Given the description of an element on the screen output the (x, y) to click on. 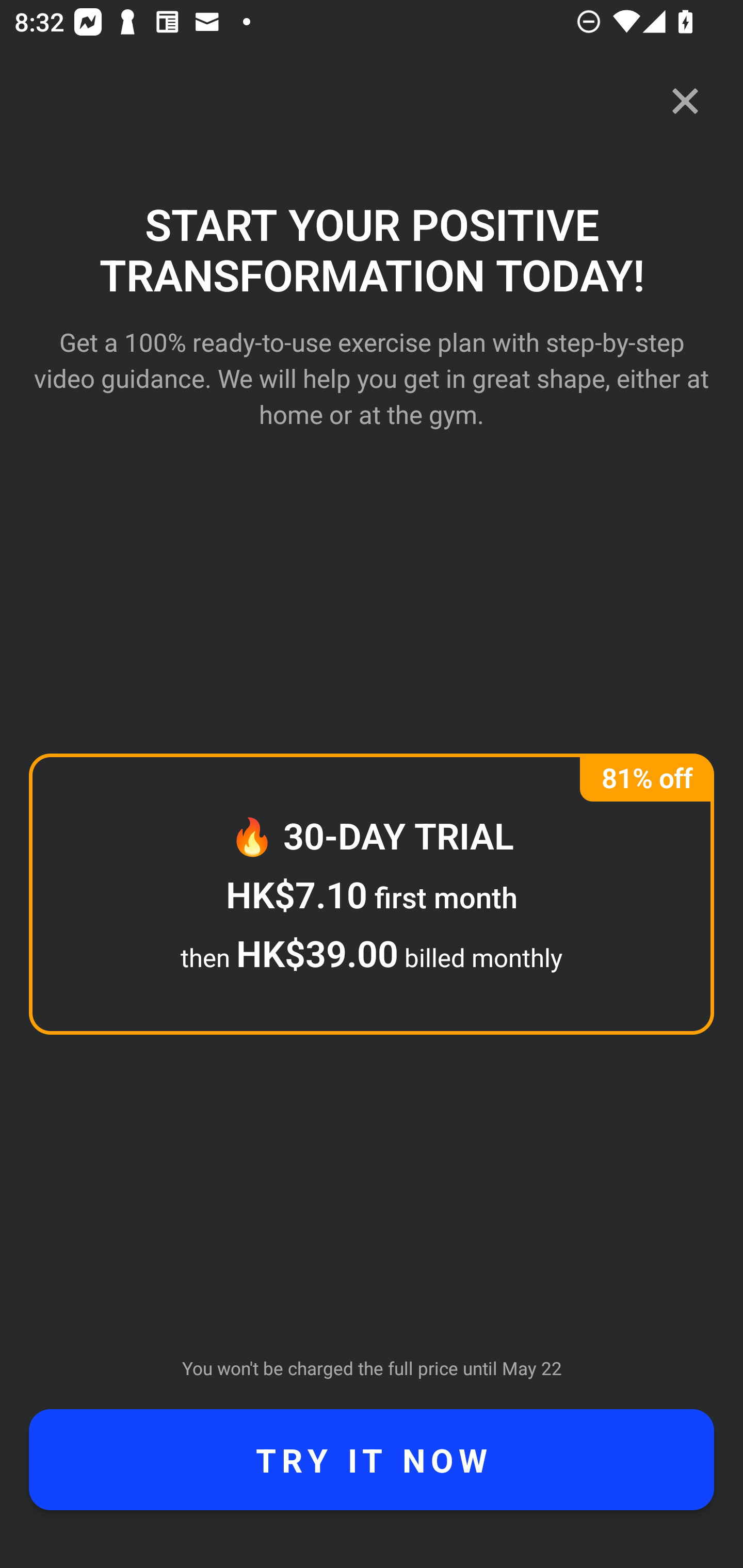
Close (684, 101)
TRY IT NOW (371, 1459)
